Given the description of an element on the screen output the (x, y) to click on. 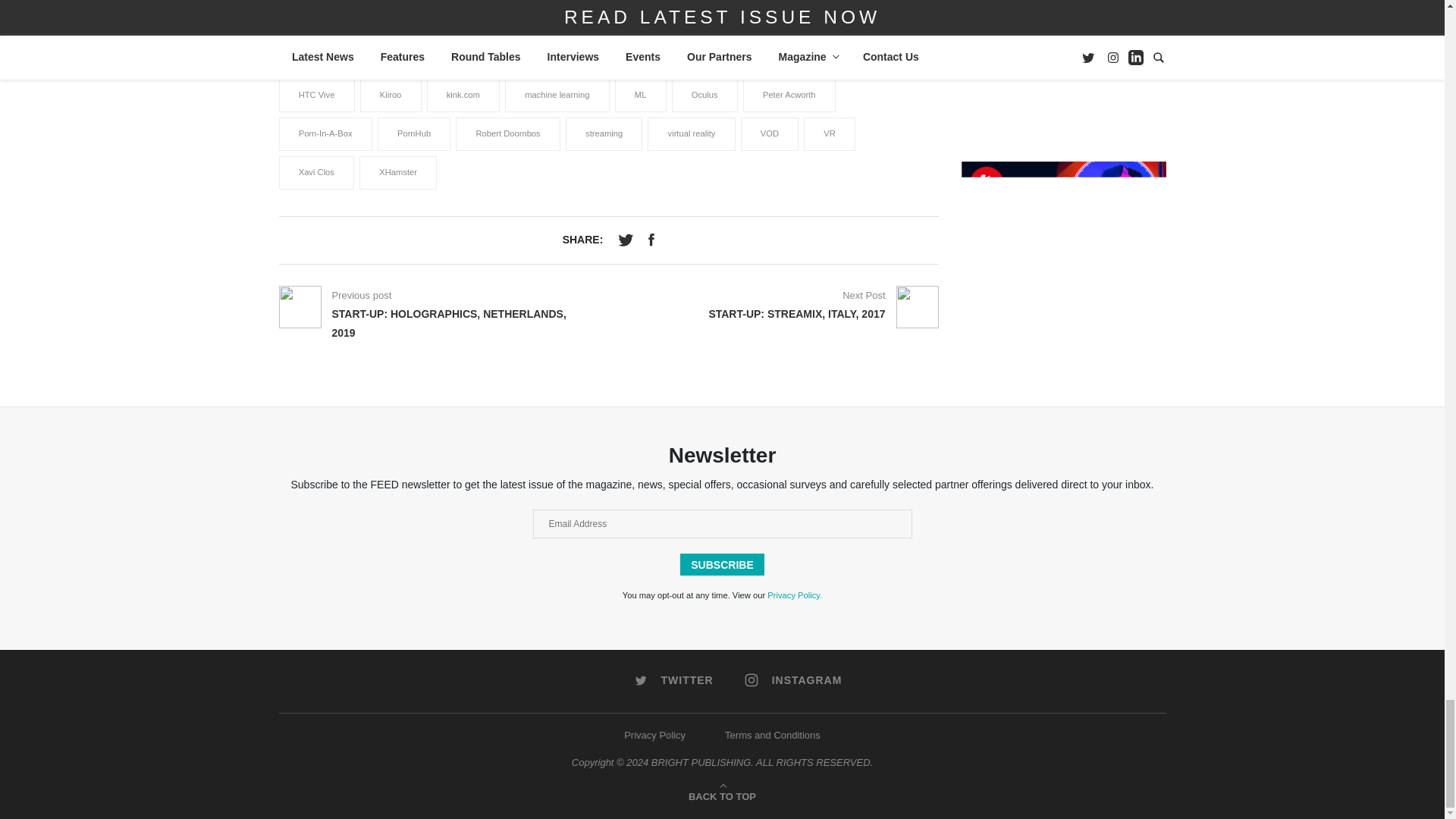
Kiiroo (390, 95)
BDSM (735, 56)
adult (306, 56)
Twitter (627, 237)
ML (640, 95)
Start-up: Streamix, Italy, 2017 (864, 295)
Facebook (653, 237)
Start-up: Streamix, Italy, 2017 (796, 313)
Start-up: Holographics, Netherlands, 2019 (300, 306)
Start-up: Holographics, Netherlands, 2019 (448, 323)
